Given the description of an element on the screen output the (x, y) to click on. 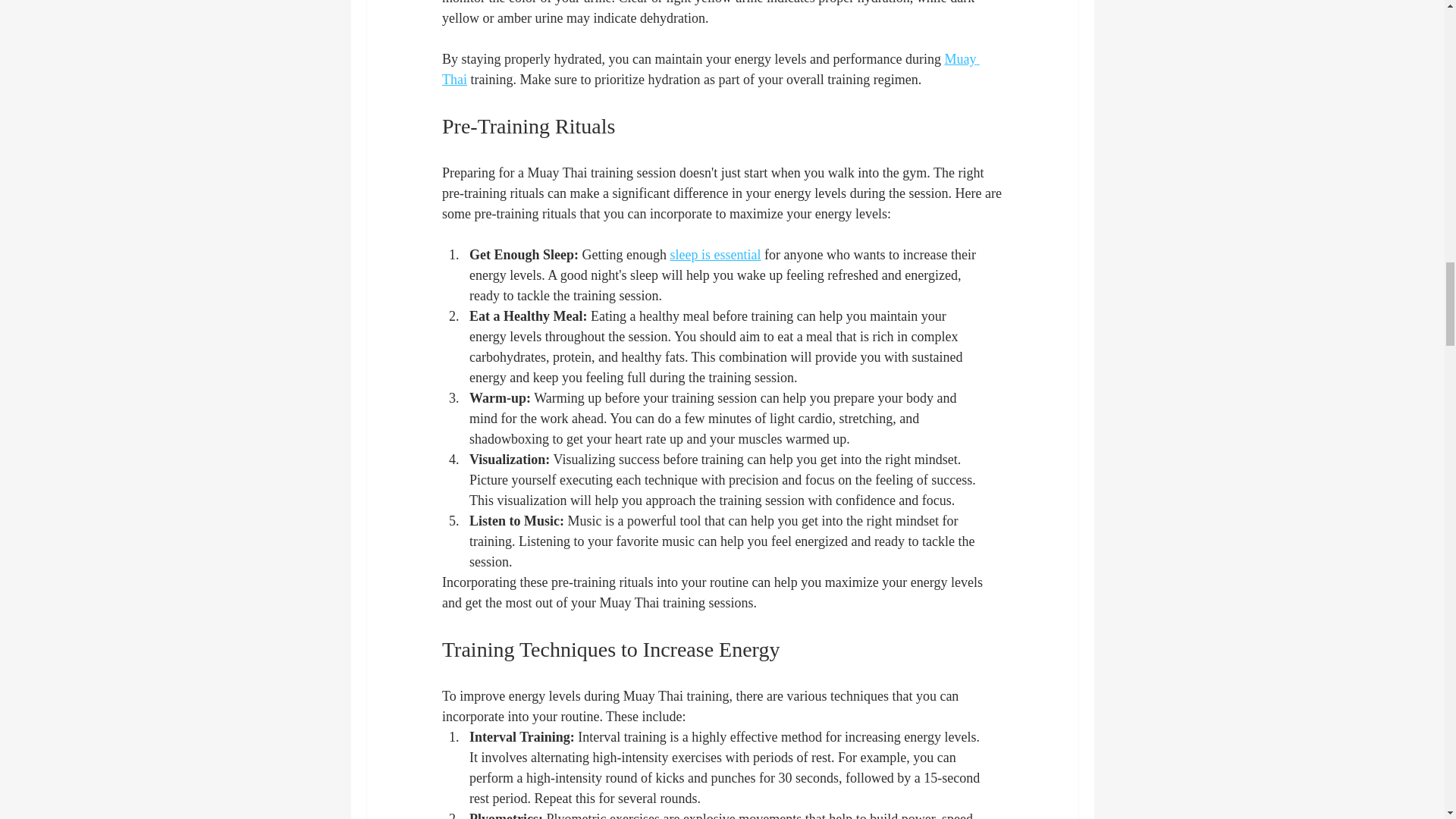
sleep is essential (714, 254)
Muay Thai (709, 68)
